Given the description of an element on the screen output the (x, y) to click on. 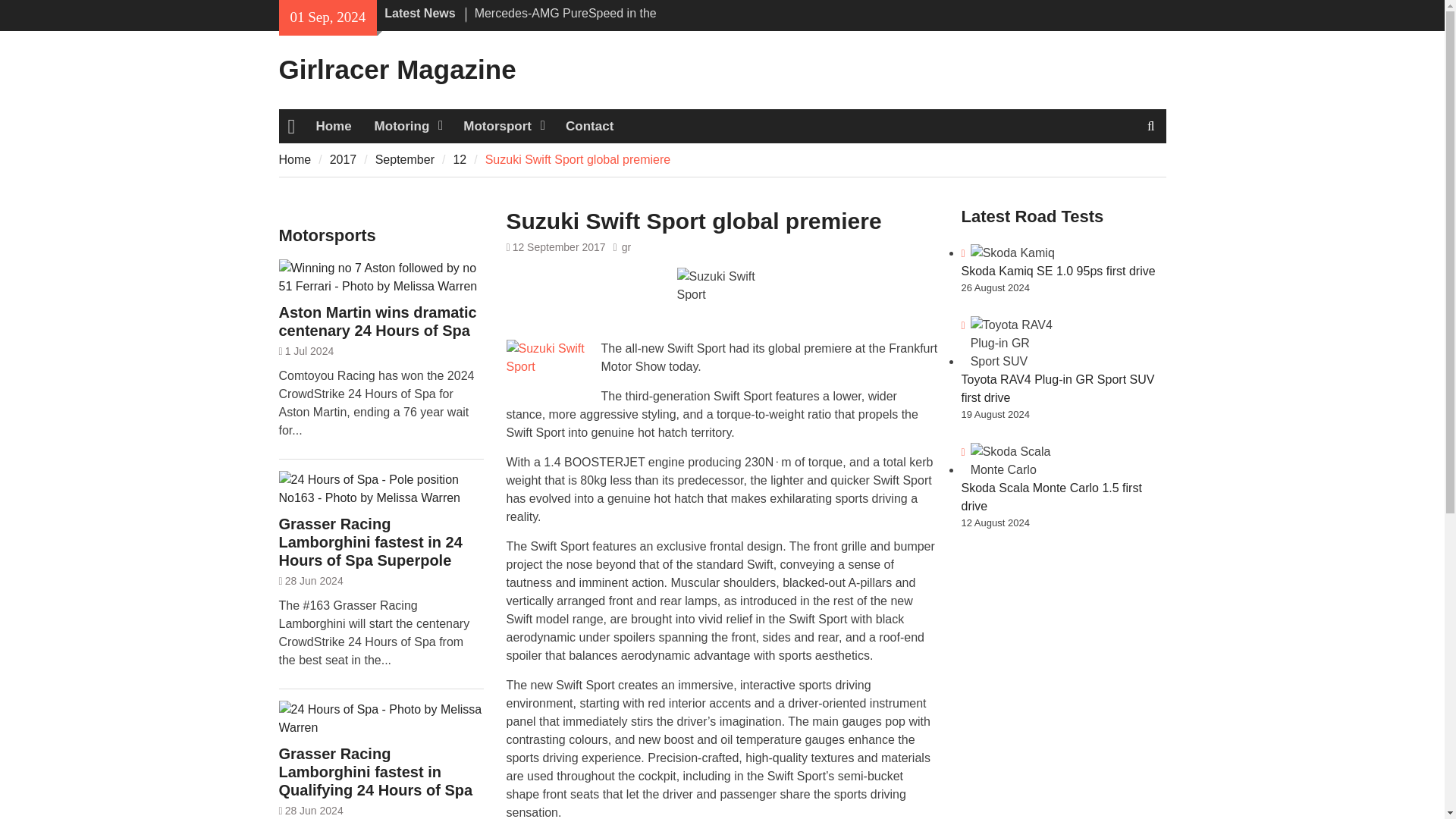
2017 (343, 159)
Skoda Scala Monte Carlo 1.5 first drive (1050, 496)
Skoda Kamiq SE 1.0 95ps first drive (1058, 270)
Home (295, 159)
Home (333, 126)
Contact (589, 126)
12 September 2017 (558, 246)
12 (458, 159)
Motorsport (502, 126)
Aston Martin wins dramatic centenary 24 Hours of Spa (381, 321)
